Given the description of an element on the screen output the (x, y) to click on. 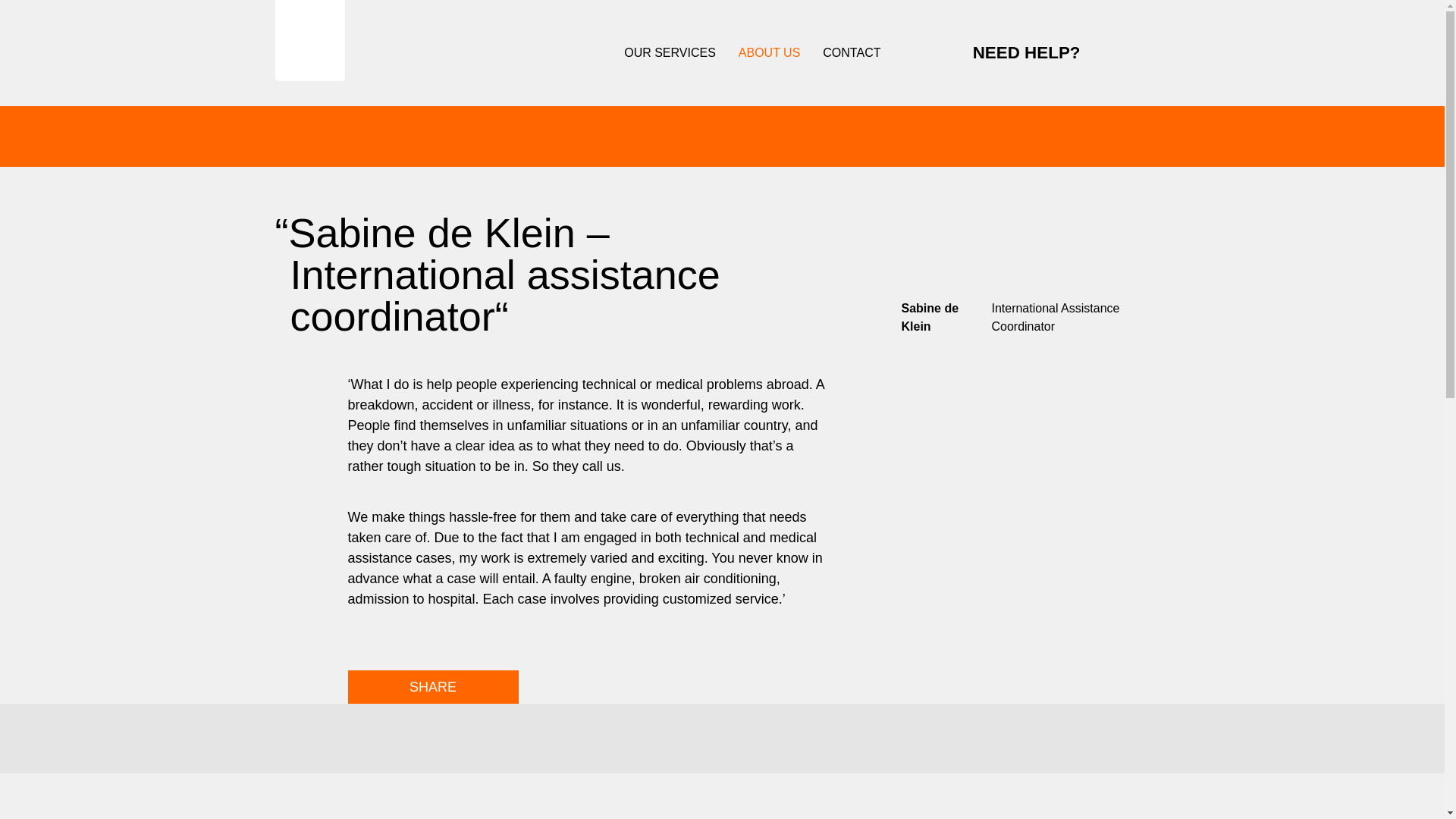
SHARE (432, 686)
language nl (1159, 51)
Eurocross Assistance (309, 40)
OUR SERVICES (670, 51)
CONTACT (851, 51)
ABOUT US (769, 51)
NEED HELP? (1008, 52)
